Given the description of an element on the screen output the (x, y) to click on. 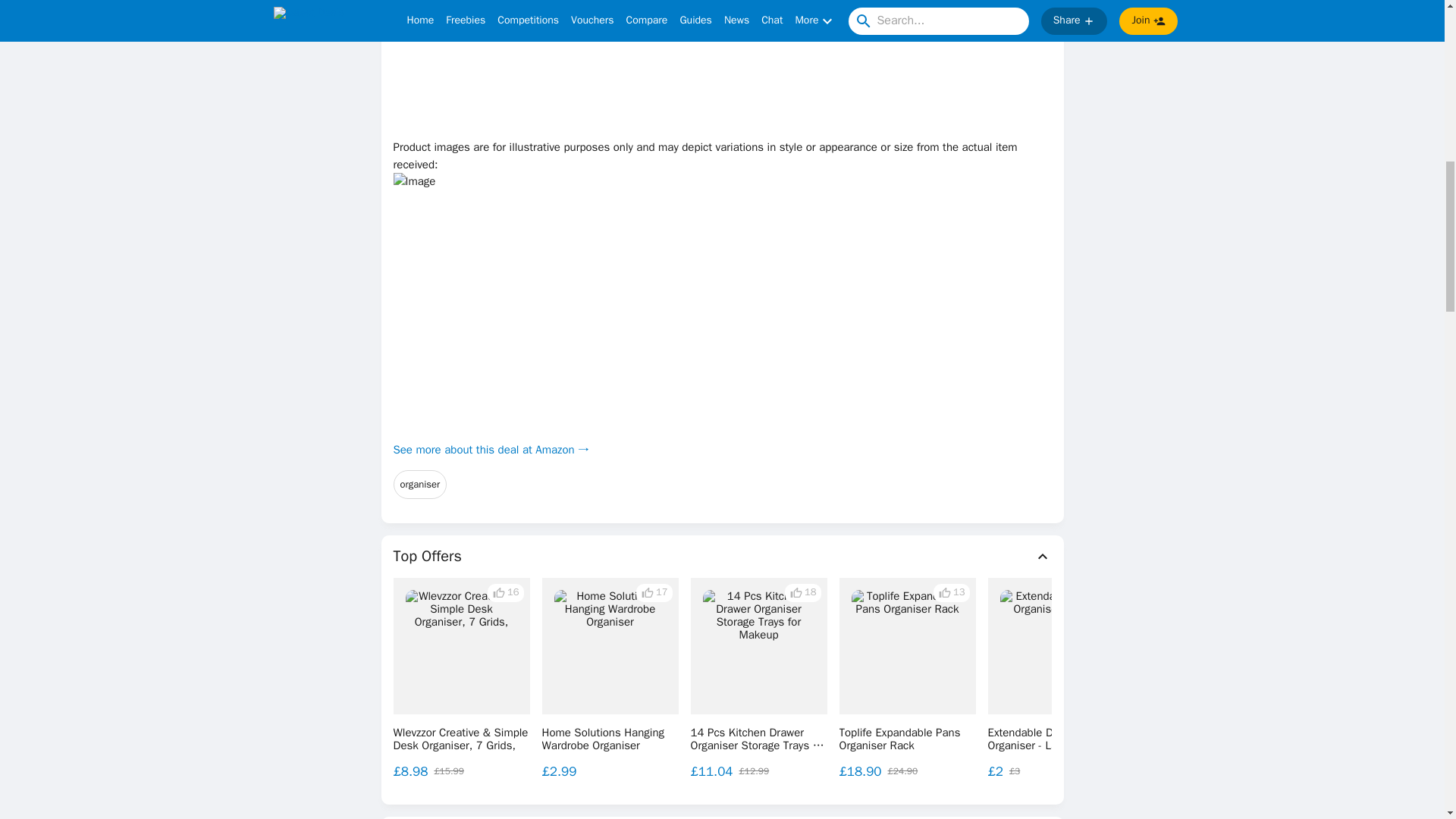
See more offers (1329, 678)
organiser (419, 484)
Top Offers (722, 556)
